Given the description of an element on the screen output the (x, y) to click on. 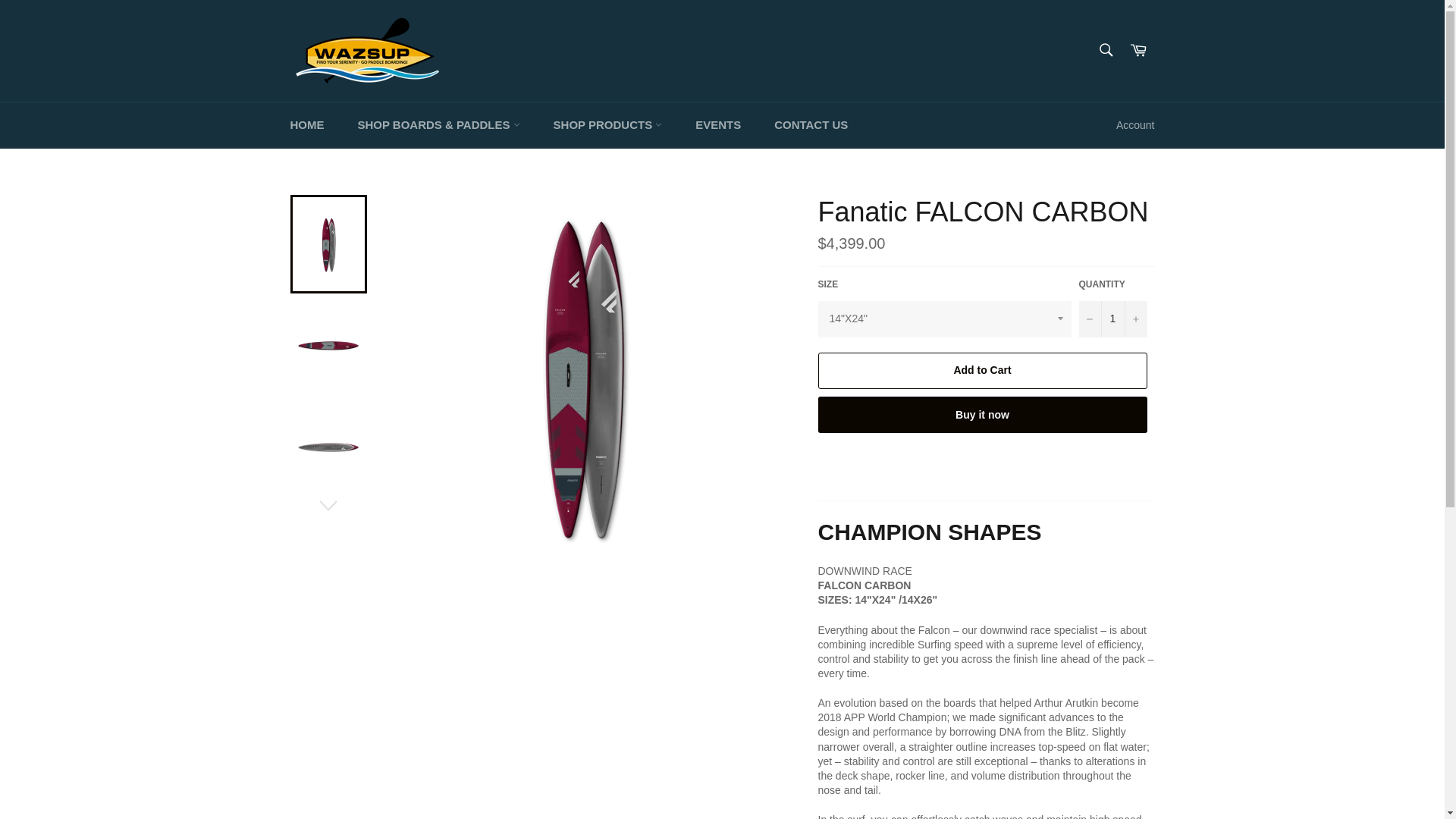
Search (1104, 49)
1 (1112, 319)
